Given the description of an element on the screen output the (x, y) to click on. 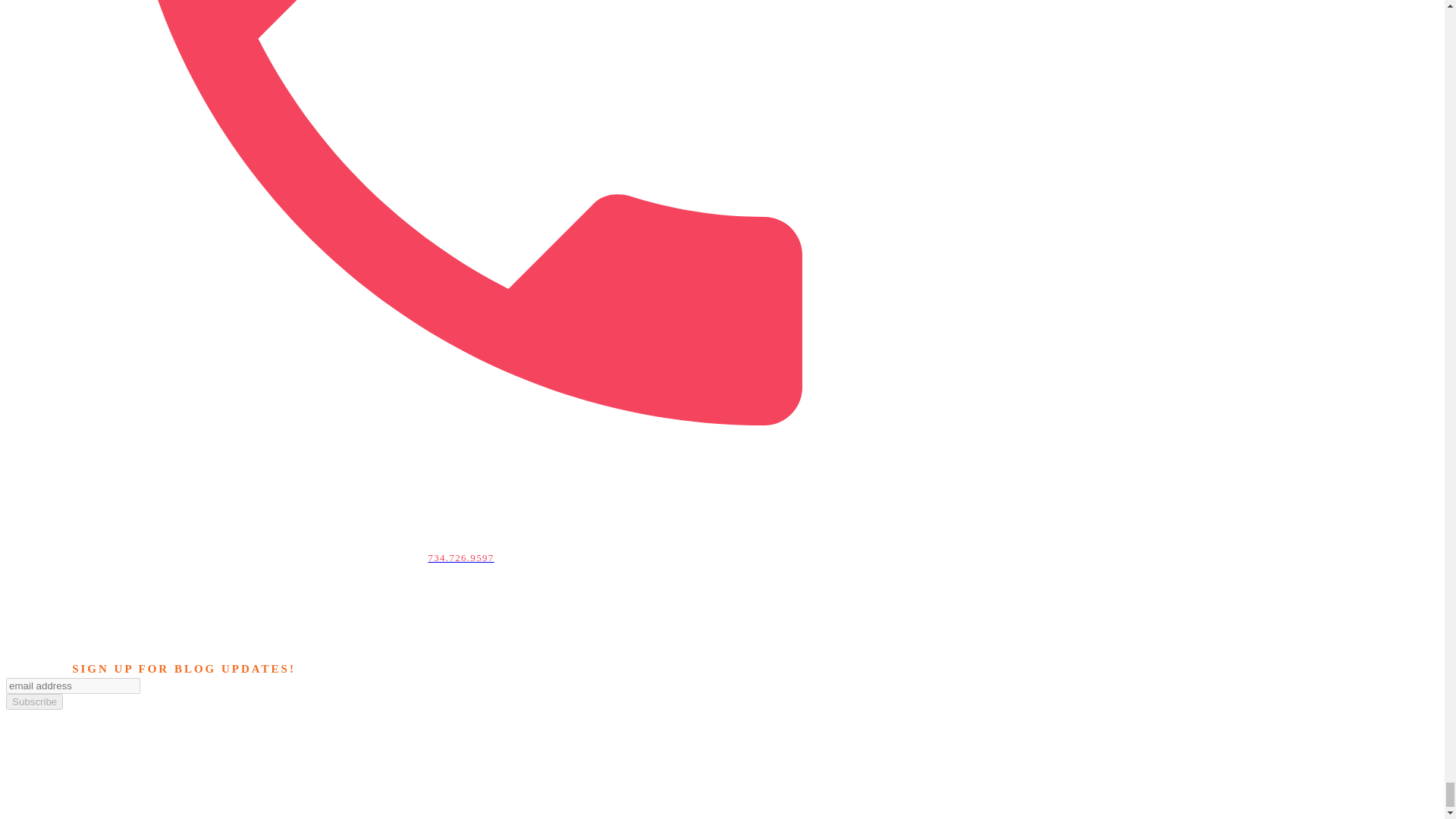
Subscribe (33, 701)
